Given the description of an element on the screen output the (x, y) to click on. 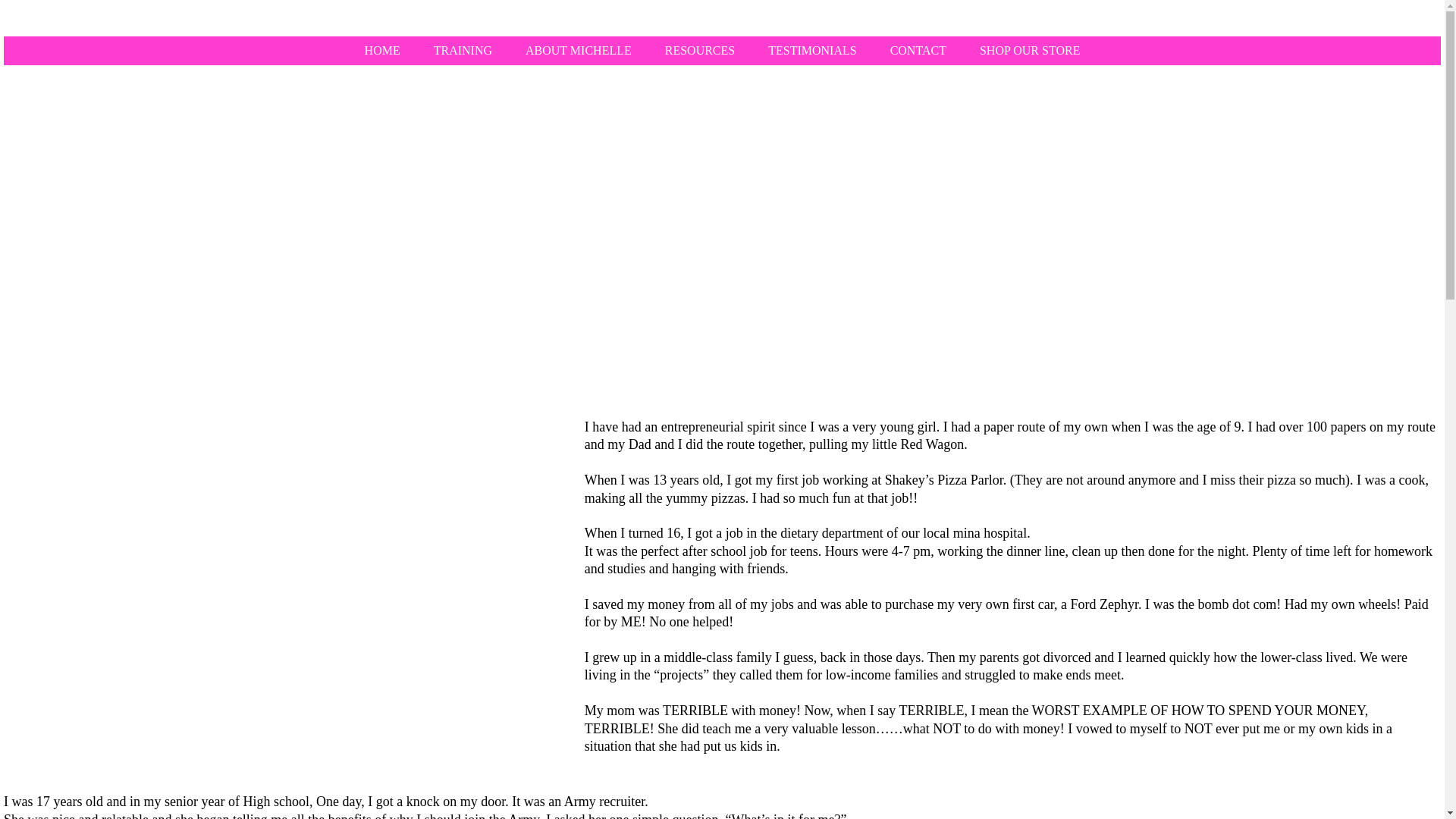
RESOURCES (700, 50)
SHOP OUR STORE (1029, 50)
TRAINING (462, 50)
CONTACT (917, 50)
HOME (382, 50)
ABOUT MICHELLE (578, 50)
TESTIMONIALS (812, 50)
